Given the description of an element on the screen output the (x, y) to click on. 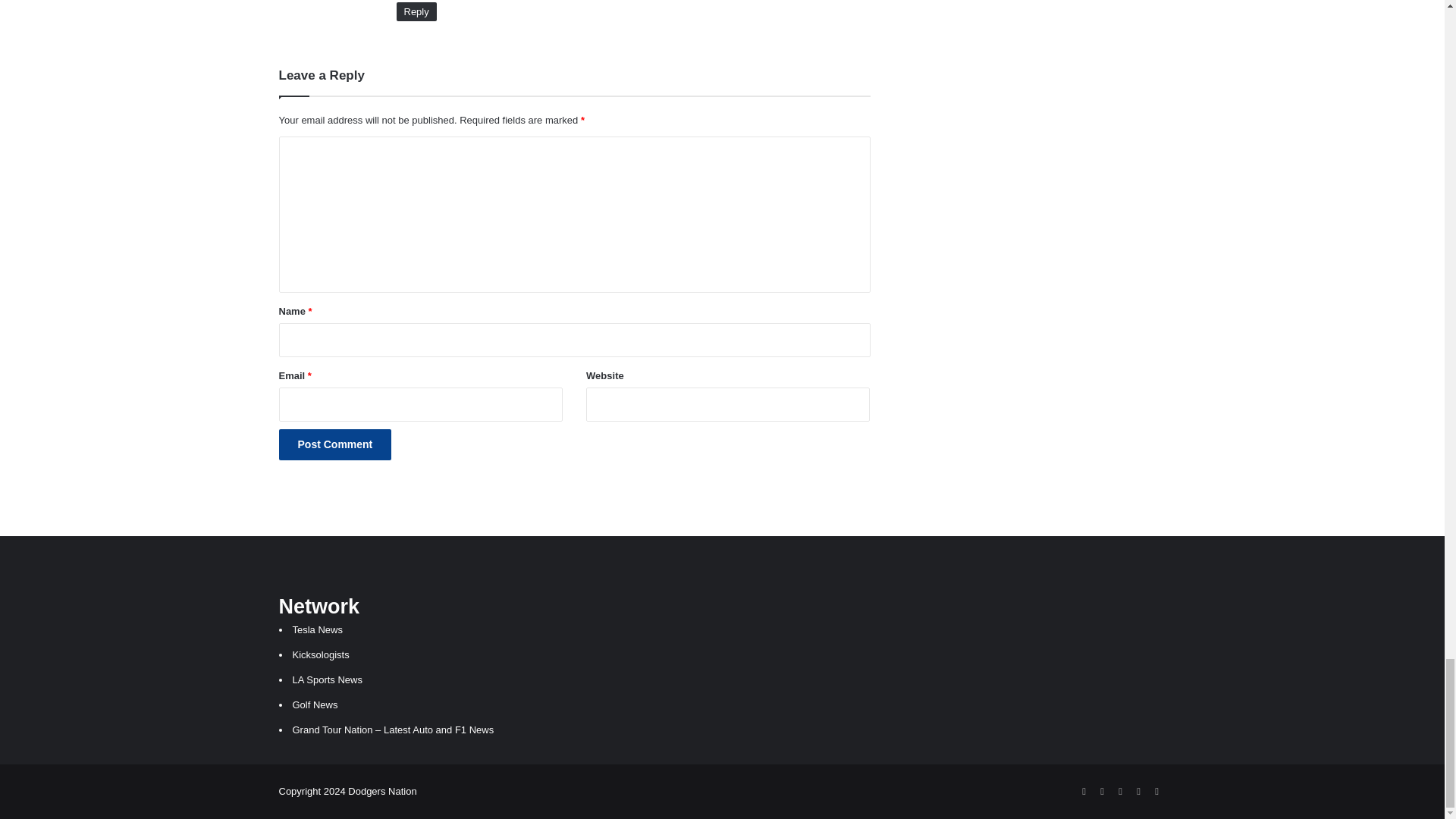
Post Comment (335, 444)
